Given the description of an element on the screen output the (x, y) to click on. 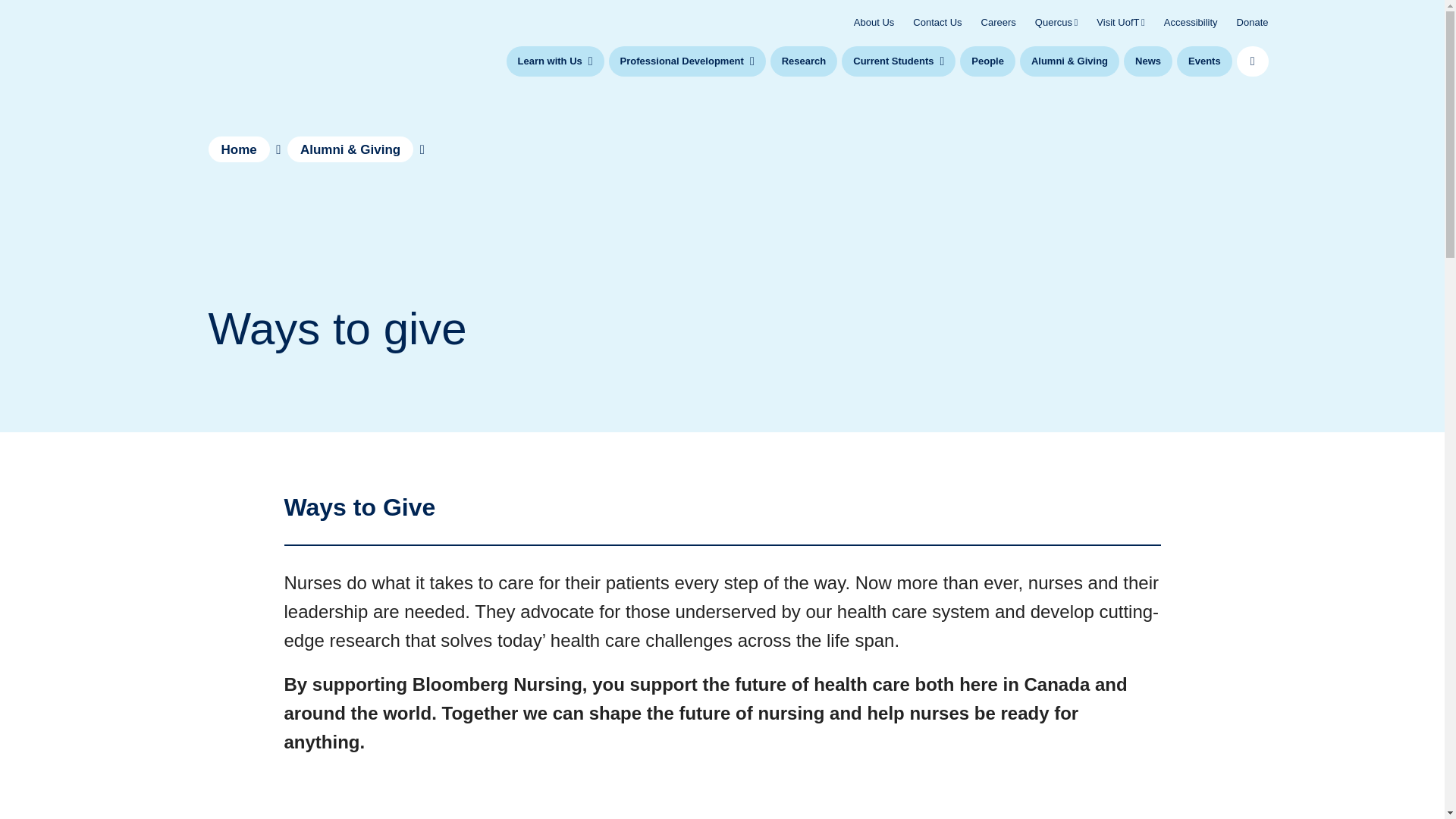
Contact Us (936, 21)
About Us (873, 21)
Donate (1252, 21)
News (1148, 60)
Quercus (1056, 21)
Events (1203, 60)
Learn with Us (555, 60)
Professional Development (686, 60)
Current Students (898, 60)
Visit UofT (1120, 21)
Research (804, 60)
Careers (998, 21)
Lawrence Bloomberg Faculty of Nursing (261, 45)
People (986, 60)
Accessibility (1190, 21)
